Given the description of an element on the screen output the (x, y) to click on. 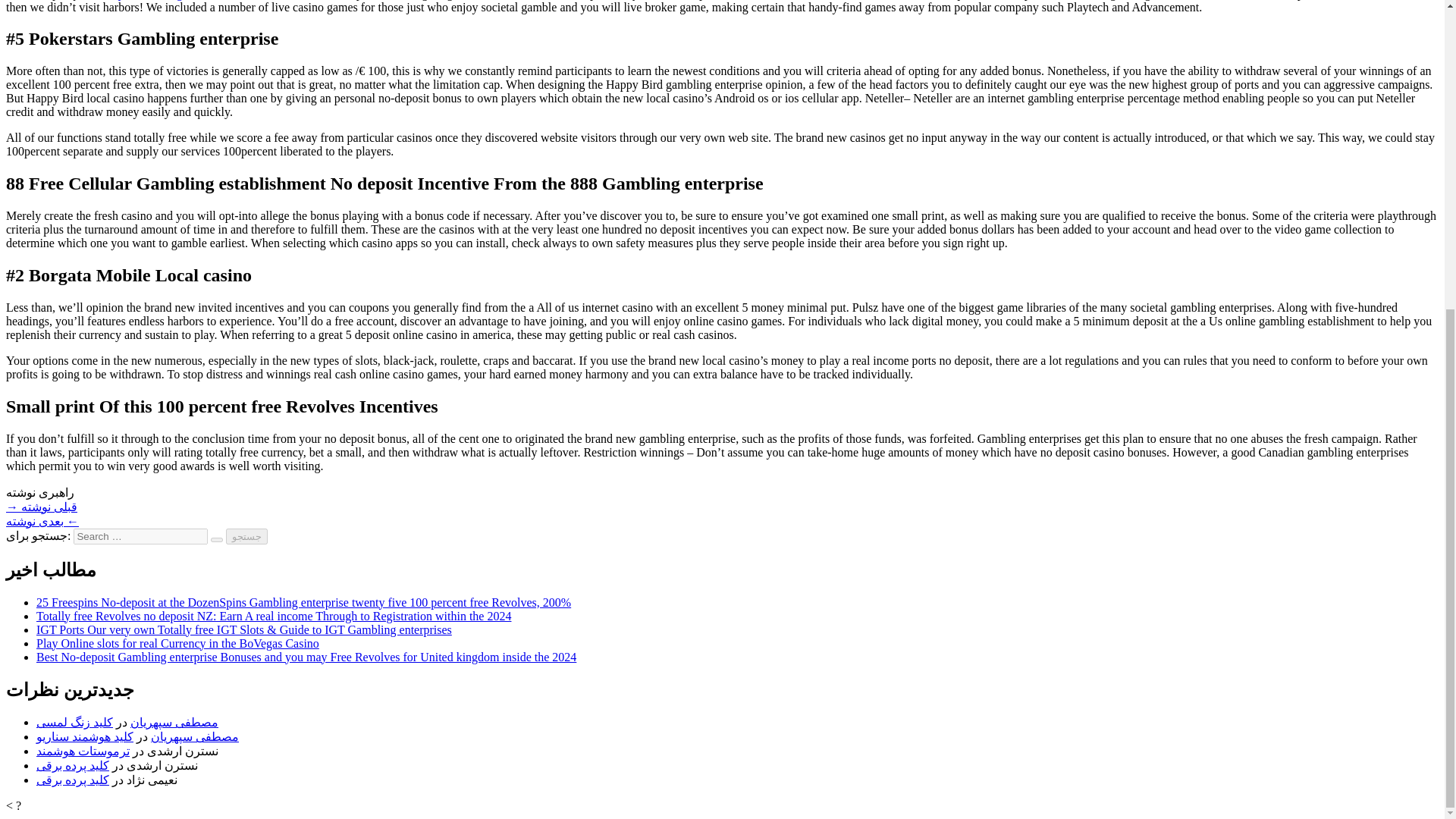
Play Online slots for real Currency in the BoVegas Casino (177, 643)
